Given the description of an element on the screen output the (x, y) to click on. 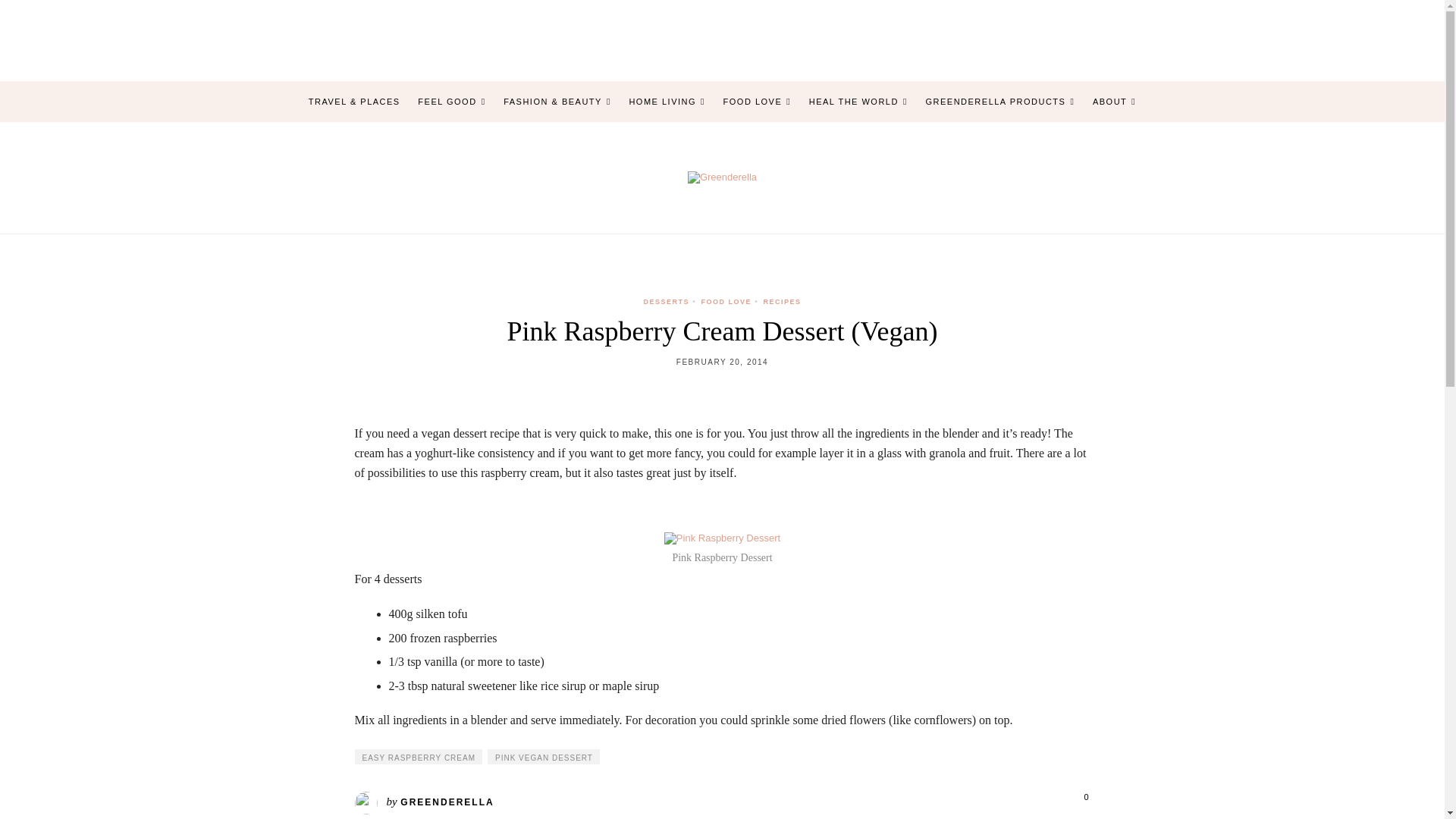
FEEL GOOD (450, 101)
HOME LIVING (666, 101)
FOOD LOVE (757, 101)
Posts by Greenderella (446, 801)
